Given the description of an element on the screen output the (x, y) to click on. 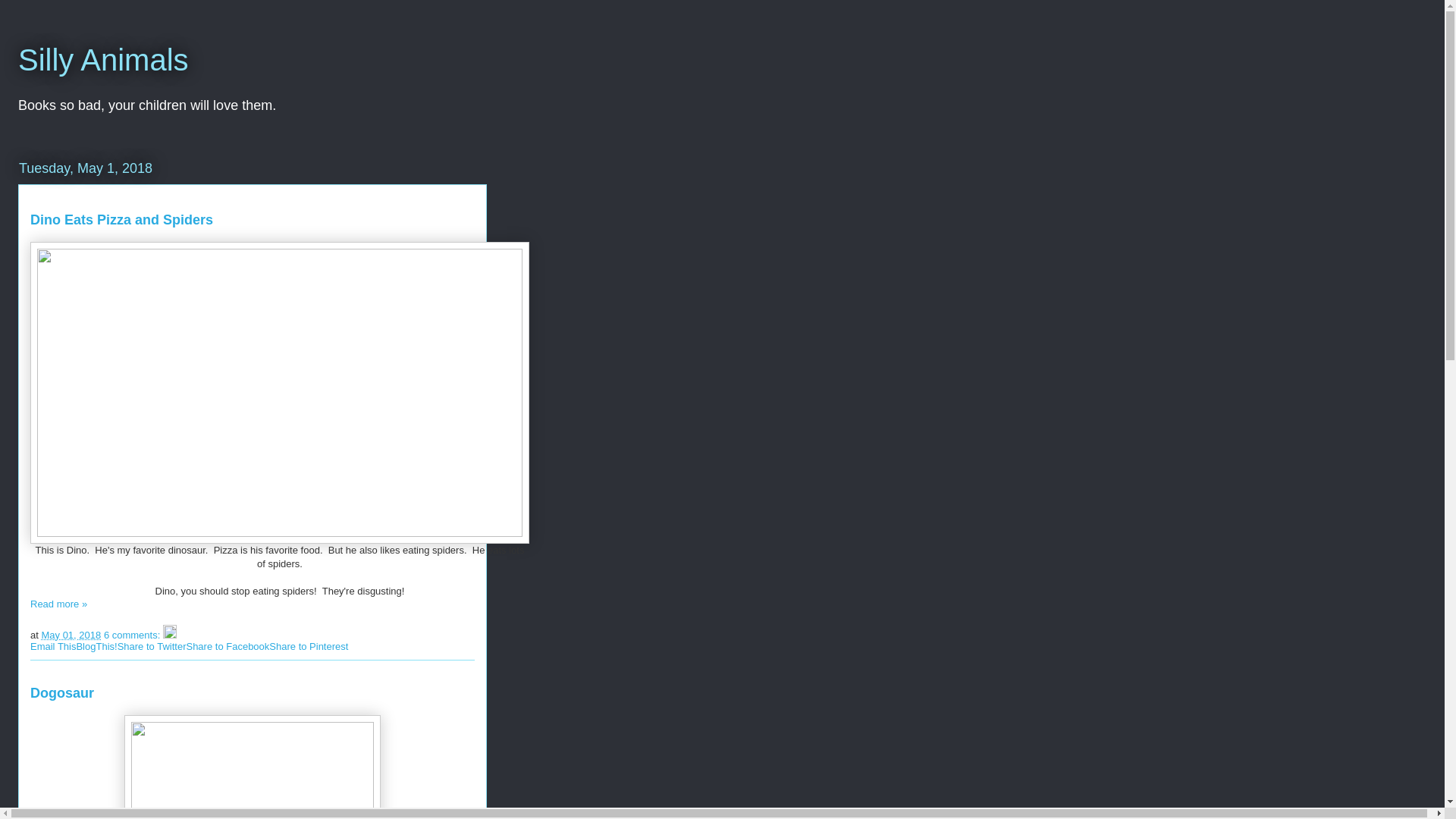
May 01, 2018 Element type: text (70, 634)
BlogThis! Element type: text (95, 646)
Share to Pinterest Element type: text (308, 646)
Dino Eats Pizza and Spiders Element type: text (121, 219)
6 comments: Element type: text (133, 634)
Share to Facebook Element type: text (227, 646)
Silly Animals Element type: text (103, 59)
Dogosaur Element type: text (62, 692)
Edit Post Element type: hover (169, 634)
Email This Element type: text (52, 646)
Share to Twitter Element type: text (151, 646)
